Given the description of an element on the screen output the (x, y) to click on. 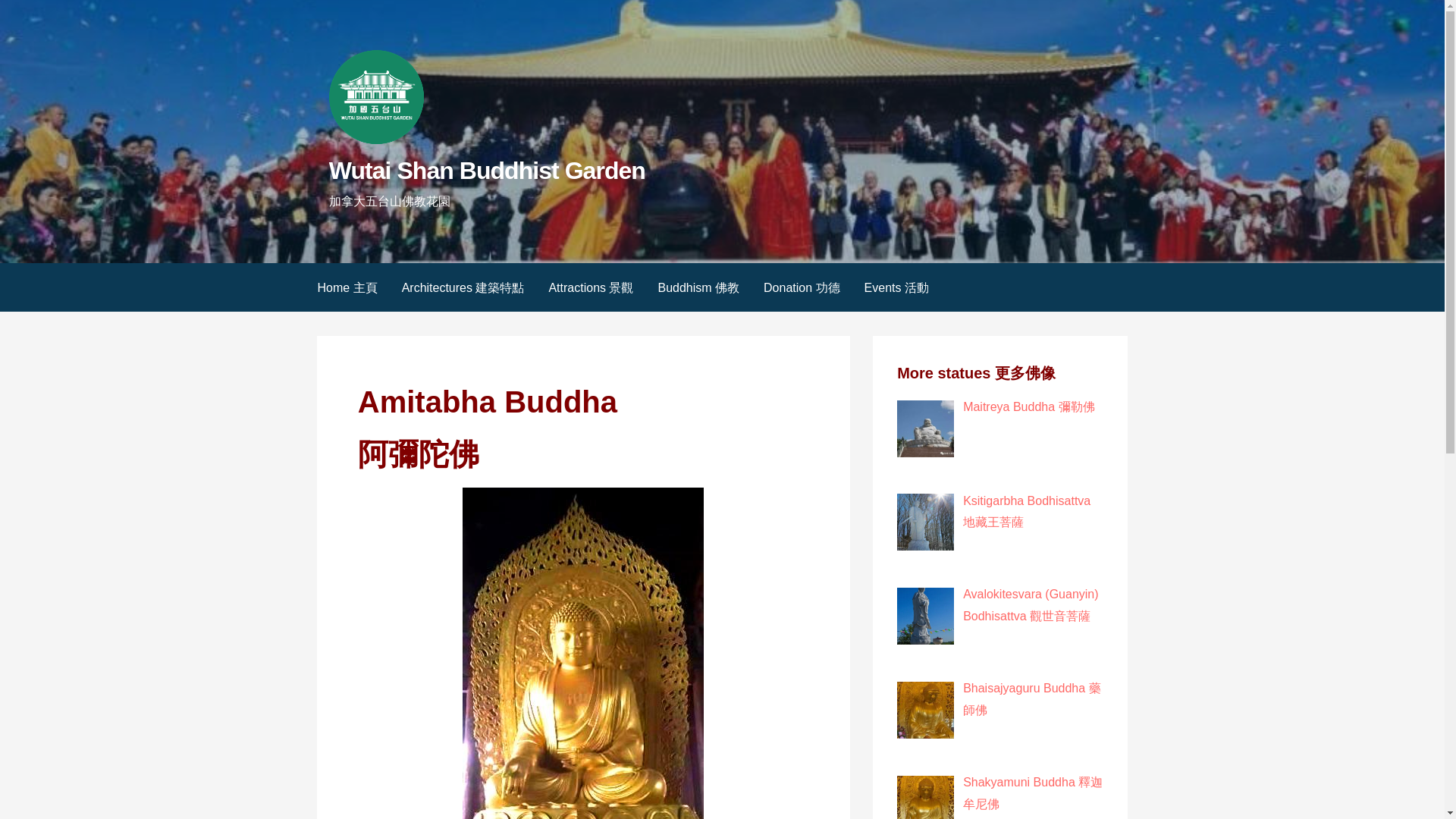
Wutai Shan Buddhist Garden (487, 170)
